Given the description of an element on the screen output the (x, y) to click on. 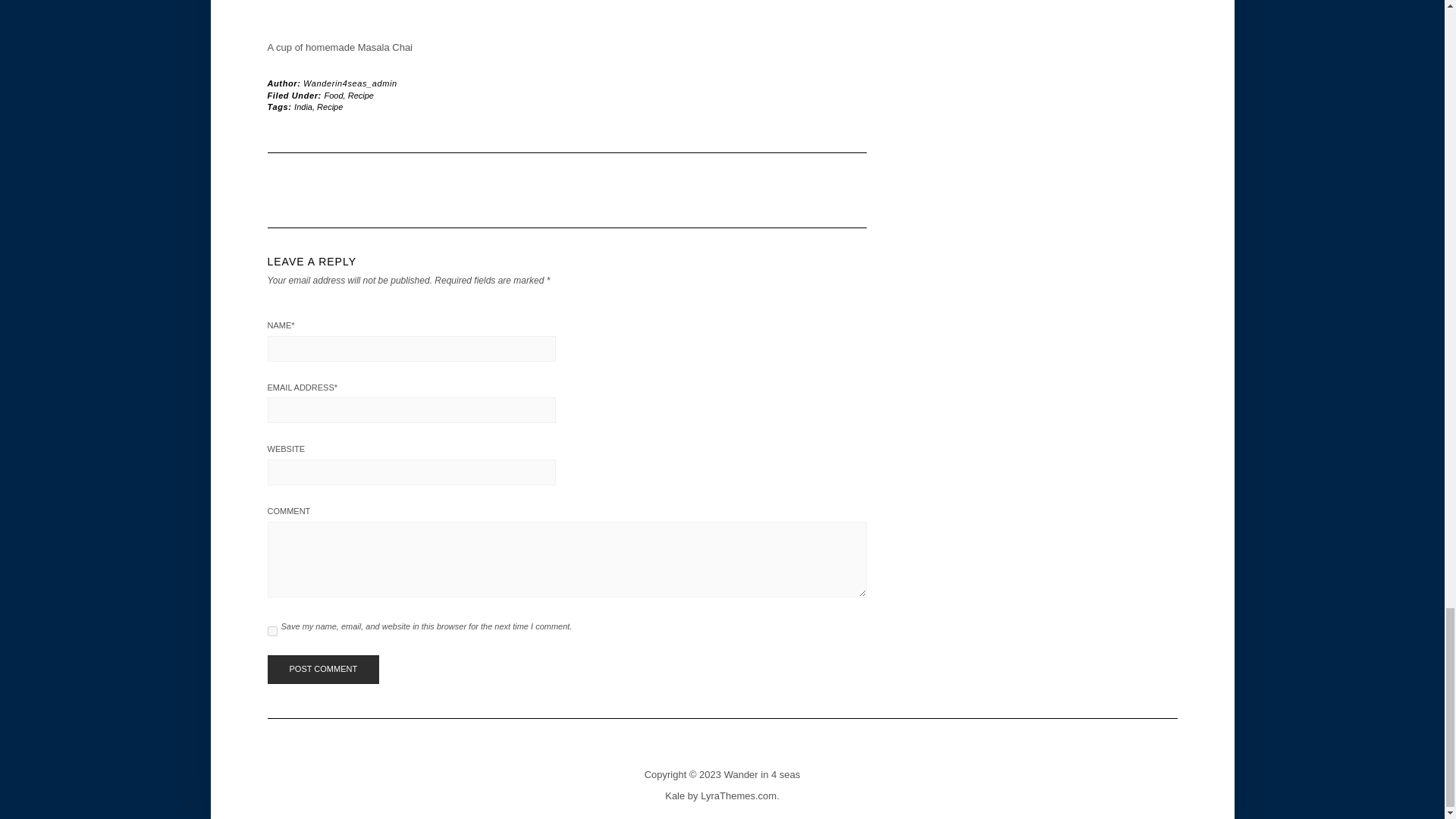
Recipe (329, 106)
yes (271, 631)
Food (333, 94)
Recipe (360, 94)
Post Comment (322, 669)
India (303, 106)
Post Comment (322, 669)
